Given the description of an element on the screen output the (x, y) to click on. 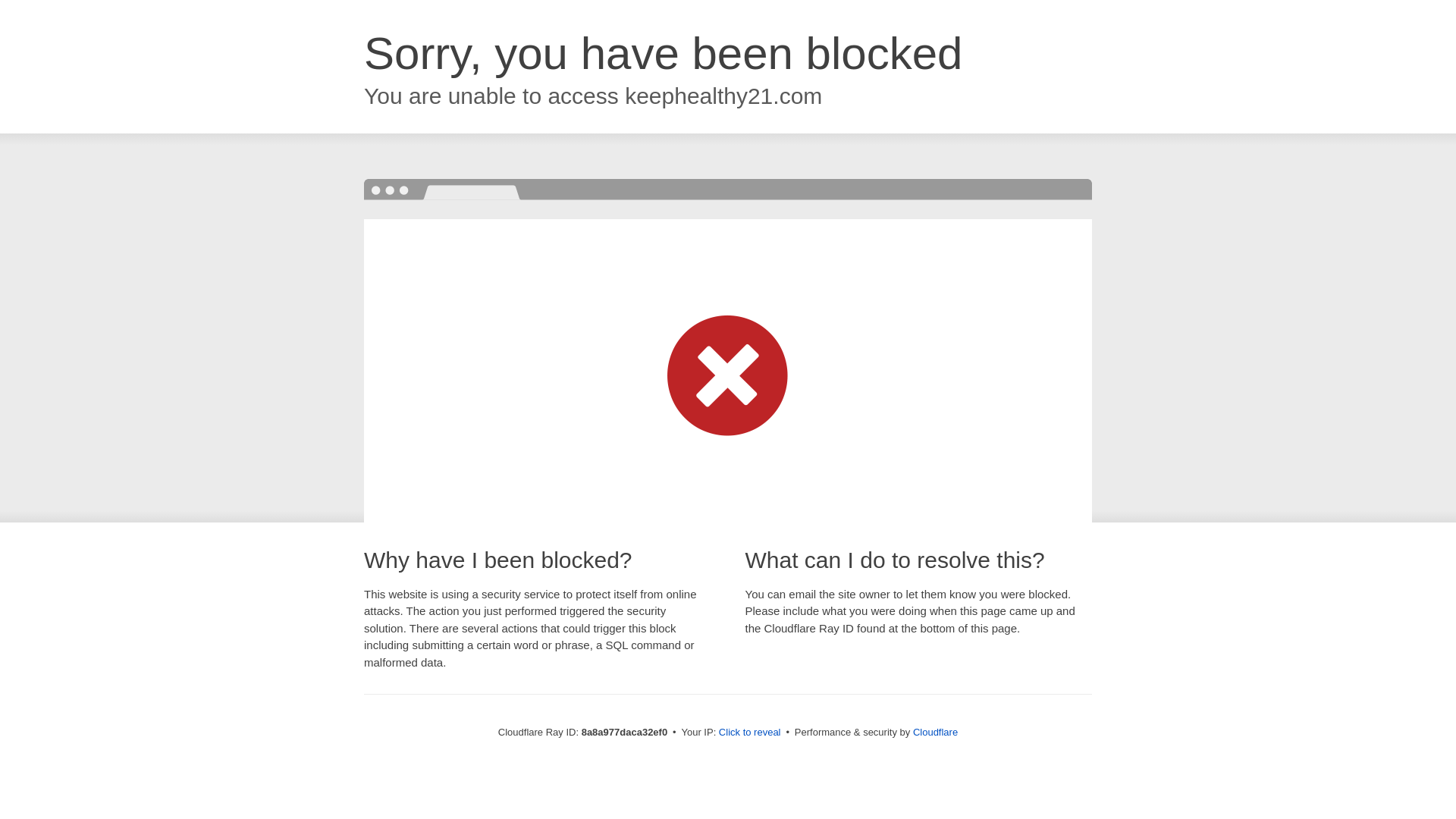
Cloudflare (935, 731)
Click to reveal (749, 732)
